Given the description of an element on the screen output the (x, y) to click on. 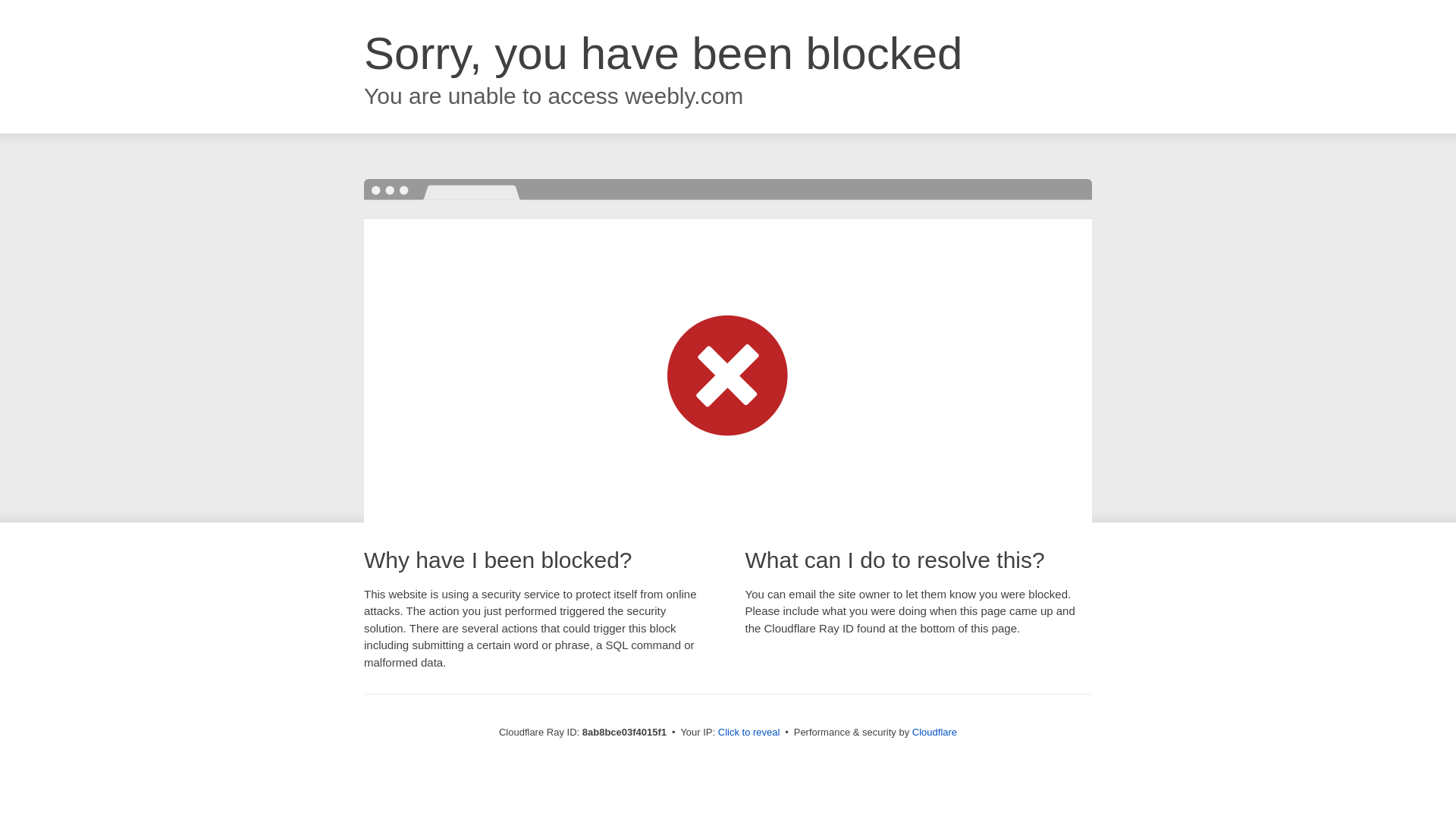
Click to reveal (748, 732)
Cloudflare (934, 731)
